Given the description of an element on the screen output the (x, y) to click on. 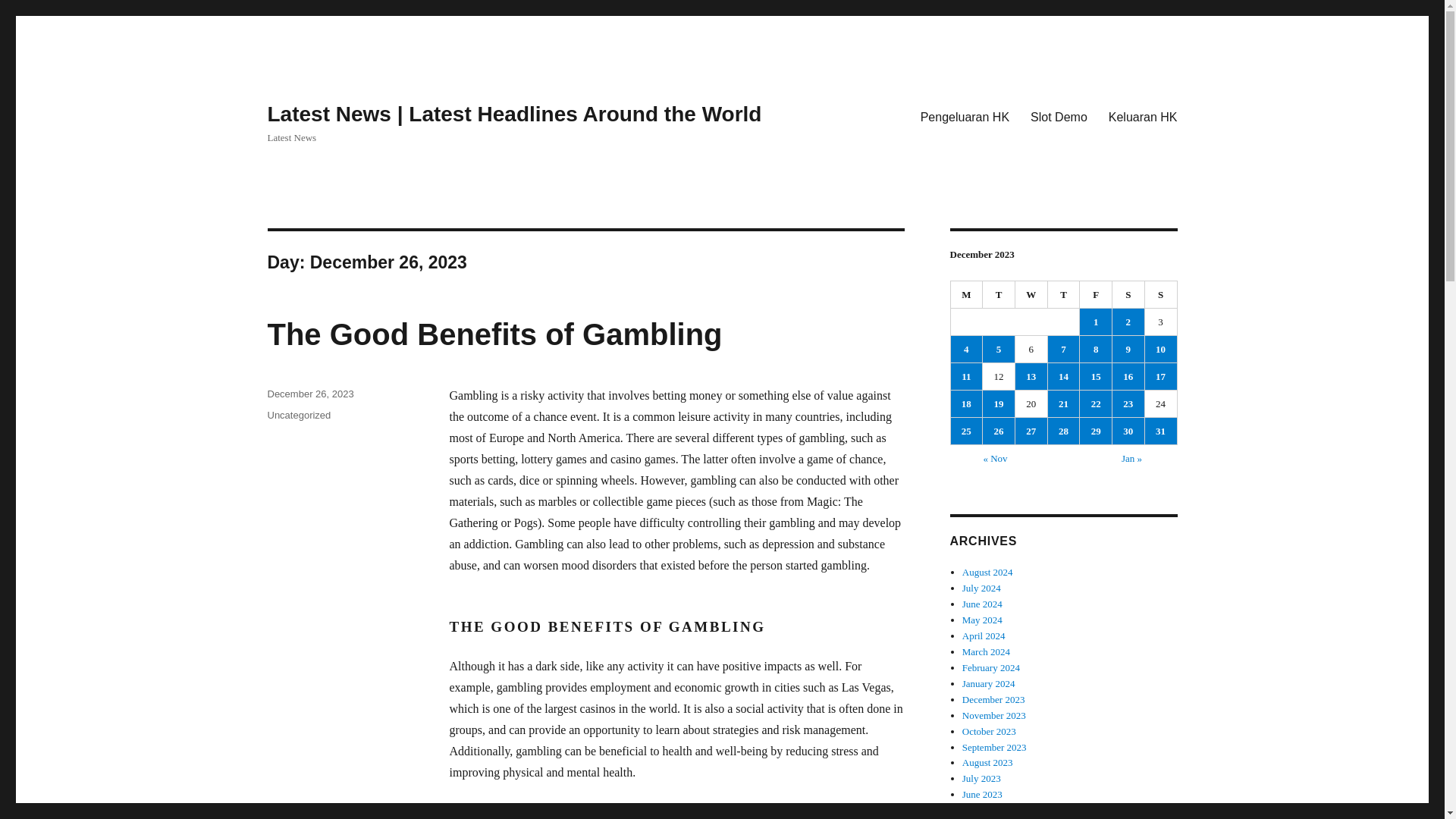
28 (1064, 430)
16 (1128, 376)
1 (1096, 321)
7 (1064, 348)
Pengeluaran HK (965, 116)
29 (1096, 430)
9 (1128, 348)
11 (966, 376)
The Good Benefits of Gambling (494, 334)
31 (1160, 430)
